Given the description of an element on the screen output the (x, y) to click on. 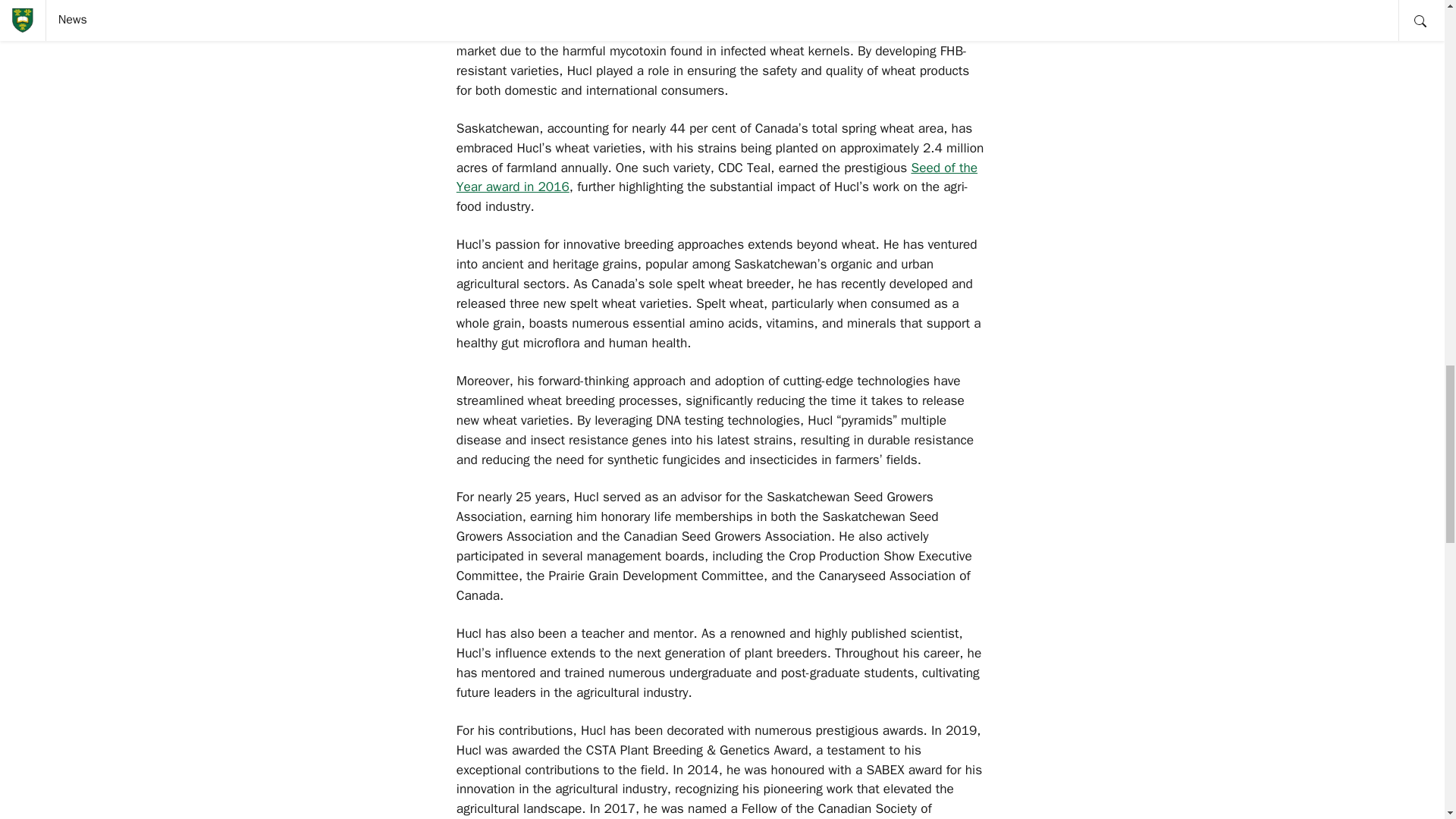
Seed of the Year award in 2016 (716, 176)
